Given the description of an element on the screen output the (x, y) to click on. 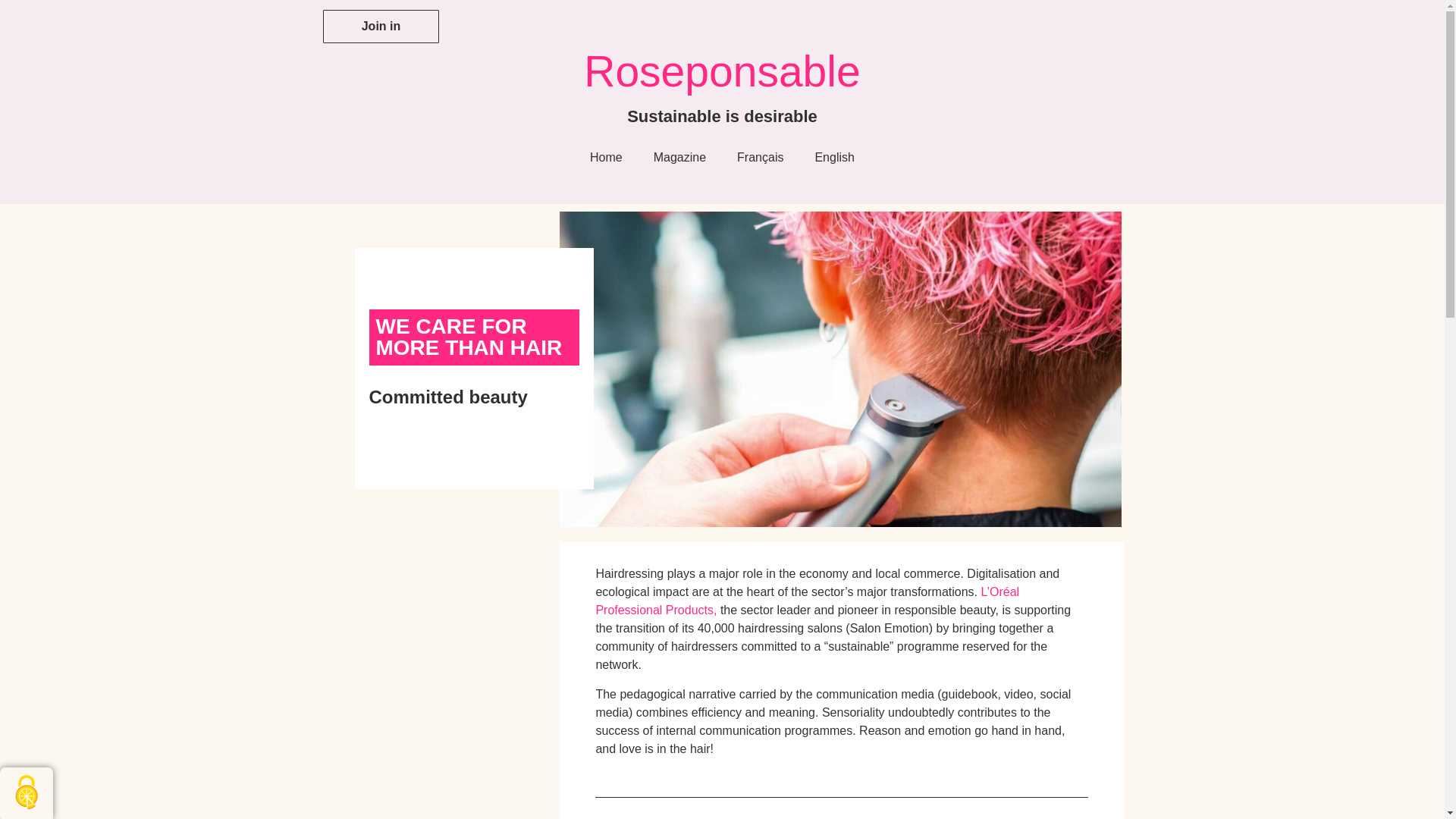
Subscribe (927, 444)
Roseponsable (721, 70)
Search (1105, 17)
Join in (381, 26)
Home (606, 157)
Magazine (679, 157)
English (833, 157)
